Given the description of an element on the screen output the (x, y) to click on. 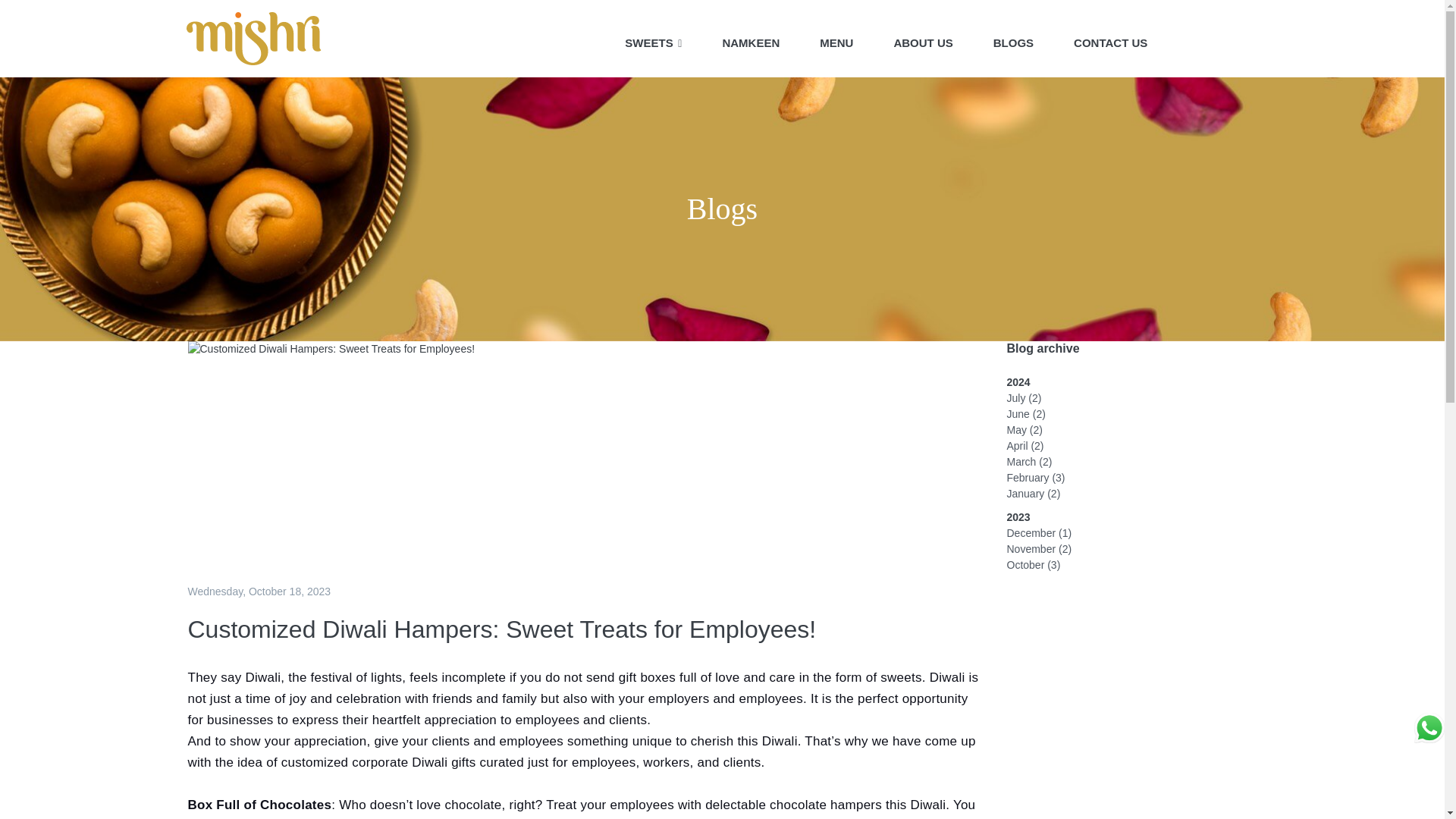
ABOUT US (922, 38)
SWEETS (652, 38)
NAMKEEN (750, 38)
CONTACT US (1110, 38)
BLOGS (1014, 38)
MENU (836, 38)
Mishri (253, 38)
